Given the description of an element on the screen output the (x, y) to click on. 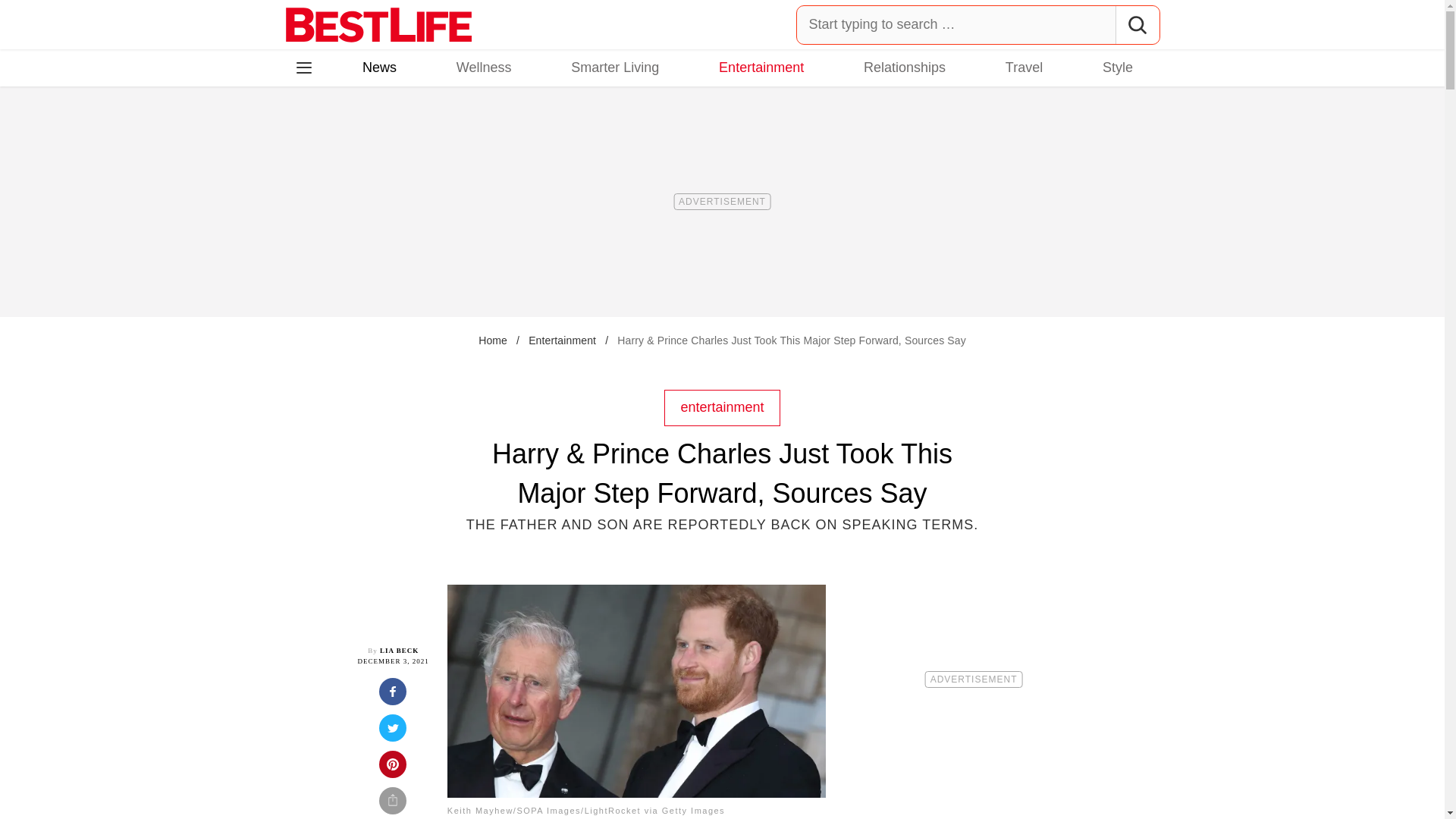
Share via email (392, 803)
Style (1117, 66)
Best Life Homepage (378, 23)
Share on Facebook (392, 696)
Home (492, 340)
Facebook (314, 133)
News (379, 66)
Smarter Living (614, 66)
Relationships (904, 66)
Type and press Enter to search (978, 24)
Wellness (483, 66)
Entertainment (761, 66)
Travel (1023, 66)
Entertainment (561, 340)
Share on Twitter (392, 732)
